Given the description of an element on the screen output the (x, y) to click on. 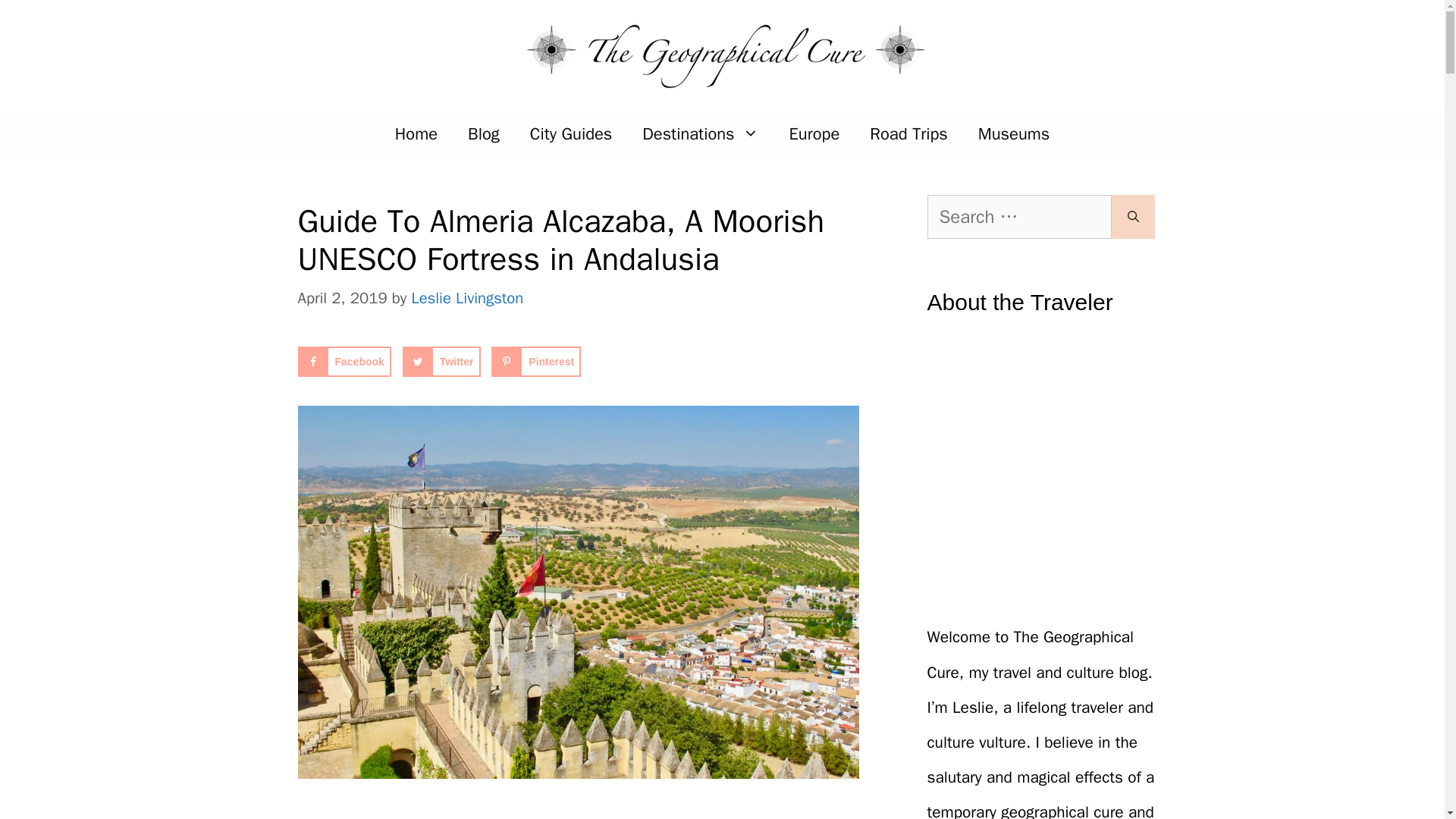
Facebook (343, 361)
Pinterest (536, 361)
View all posts by Leslie Livingston (466, 297)
Blog (483, 134)
Search for: (1018, 216)
Save to Pinterest (536, 361)
Europe (815, 134)
Museums (1013, 134)
Share on Twitter (441, 361)
City Guides (571, 134)
Destinations (700, 134)
Home (416, 134)
Share on Facebook (343, 361)
Twitter (441, 361)
Road Trips (908, 134)
